Given the description of an element on the screen output the (x, y) to click on. 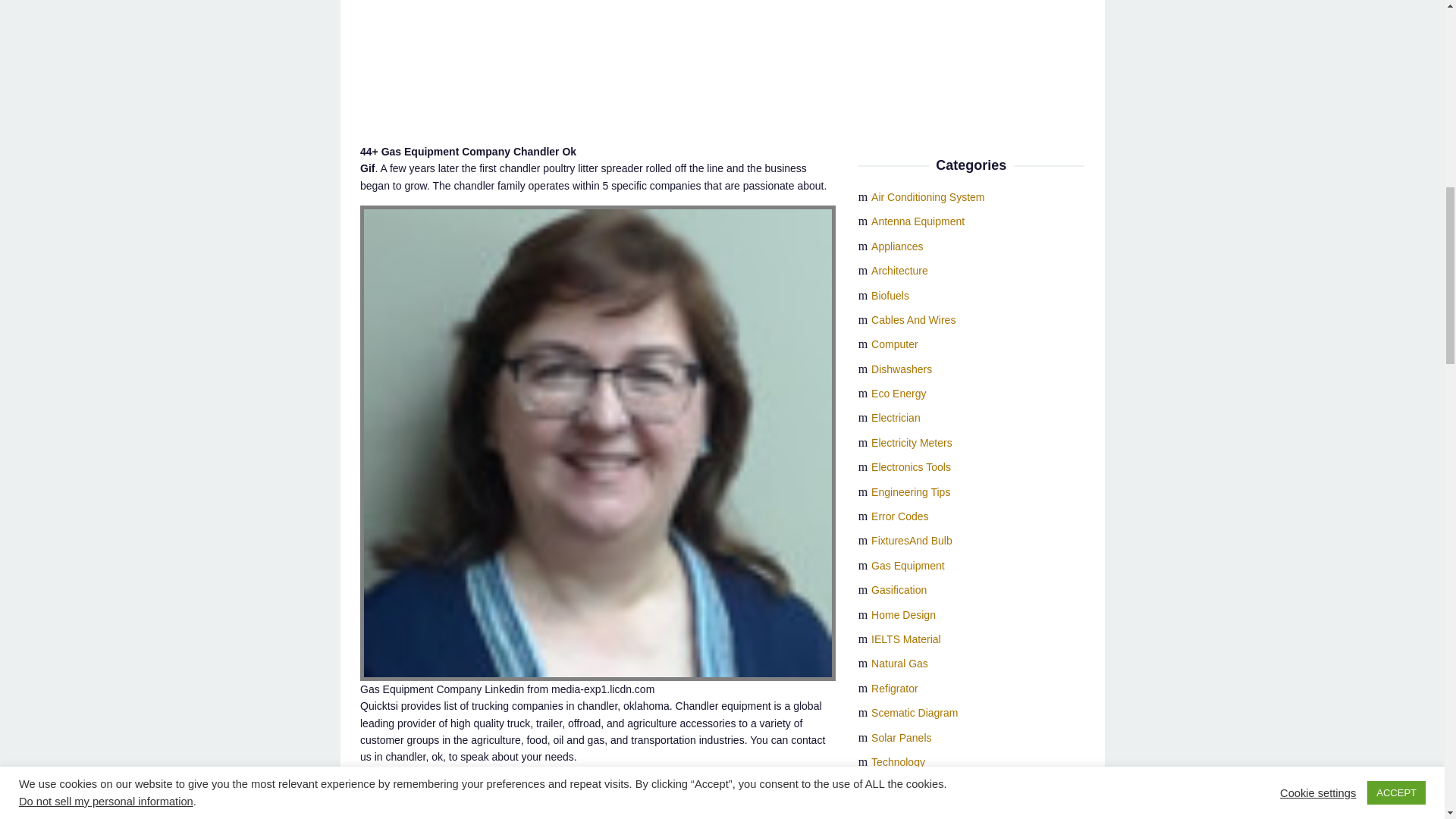
Advertisement (597, 63)
